Given the description of an element on the screen output the (x, y) to click on. 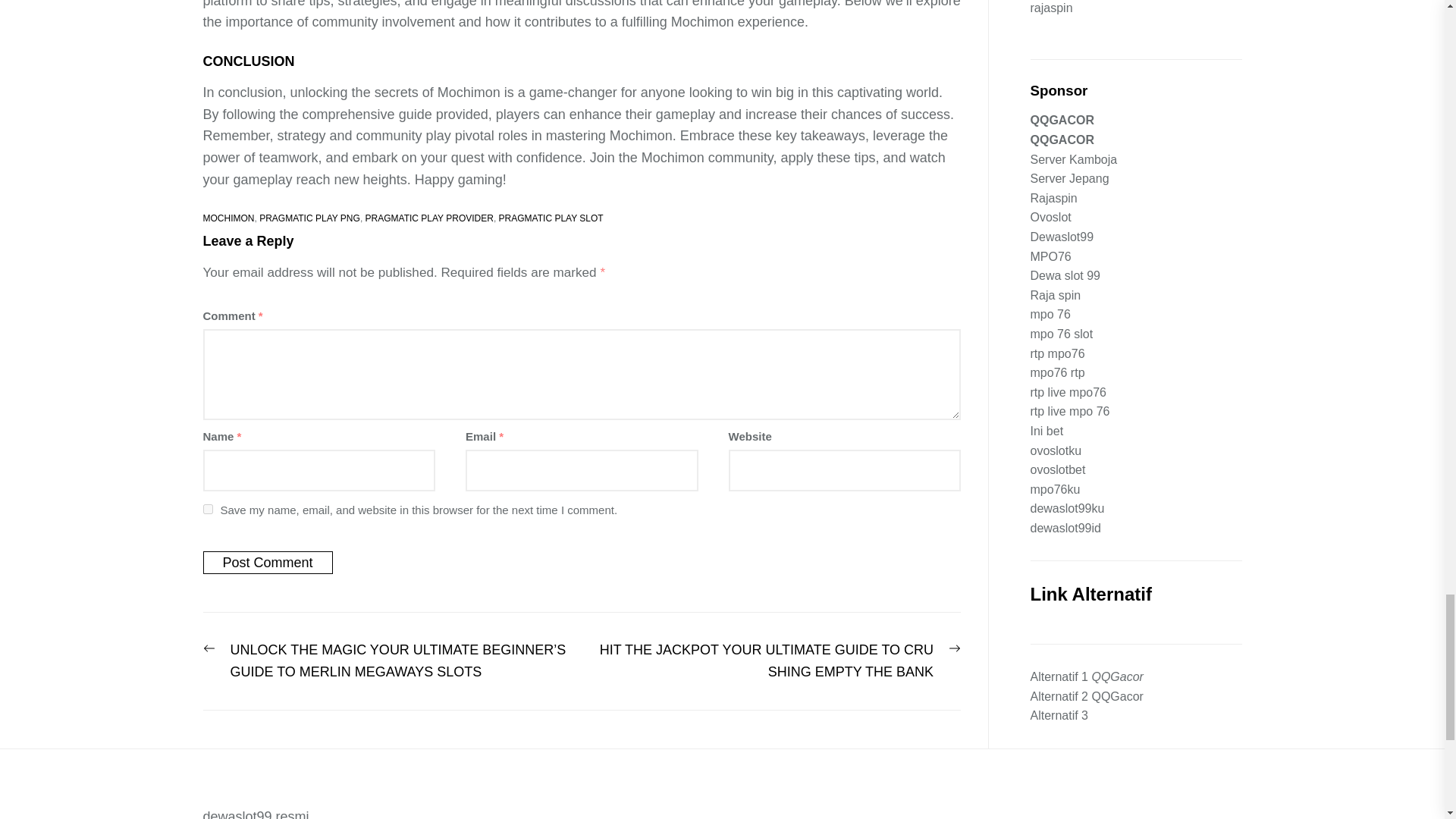
MOCHIMON (228, 217)
yes (207, 509)
Post Comment (268, 562)
PRAGMATIC PLAY PROVIDER (429, 217)
PRAGMATIC PLAY SLOT (551, 217)
Post Comment (268, 562)
PRAGMATIC PLAY PNG (309, 217)
